Given the description of an element on the screen output the (x, y) to click on. 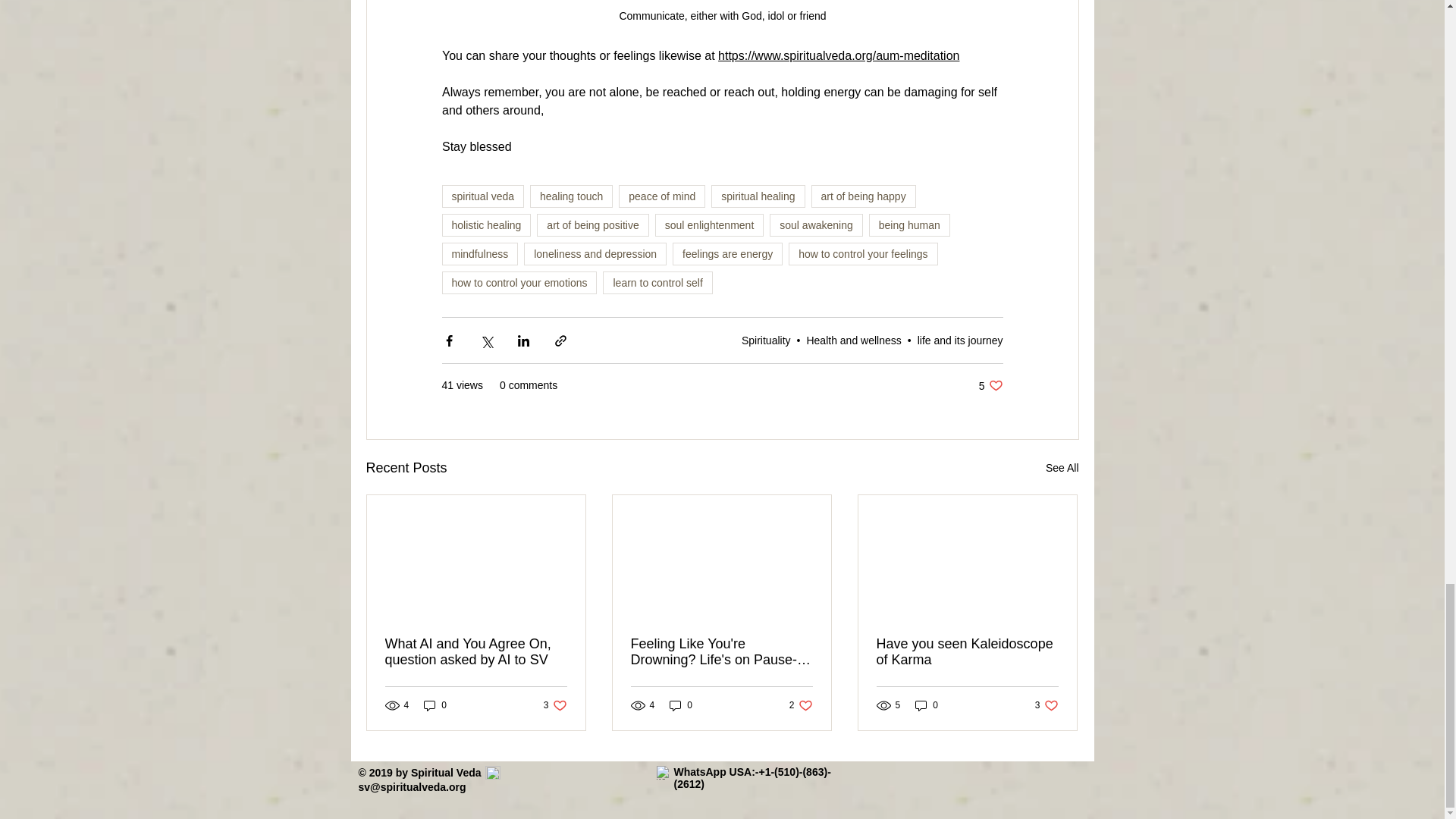
art of being positive (592, 224)
soul enlightenment (709, 224)
peace of mind (661, 196)
art of being happy (862, 196)
whatsapp.png (662, 772)
being human (909, 224)
spiritual healing (758, 196)
spiritual veda (482, 196)
holistic healing (486, 224)
healing touch (570, 196)
mindfulness (479, 253)
loneliness and depression (595, 253)
soul awakening (816, 224)
